Given the description of an element on the screen output the (x, y) to click on. 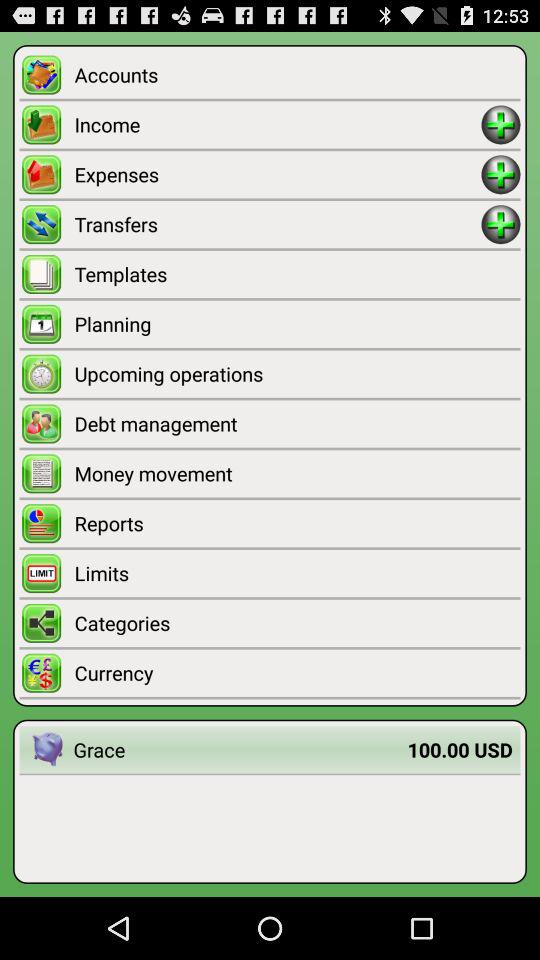
add income (500, 124)
